Given the description of an element on the screen output the (x, y) to click on. 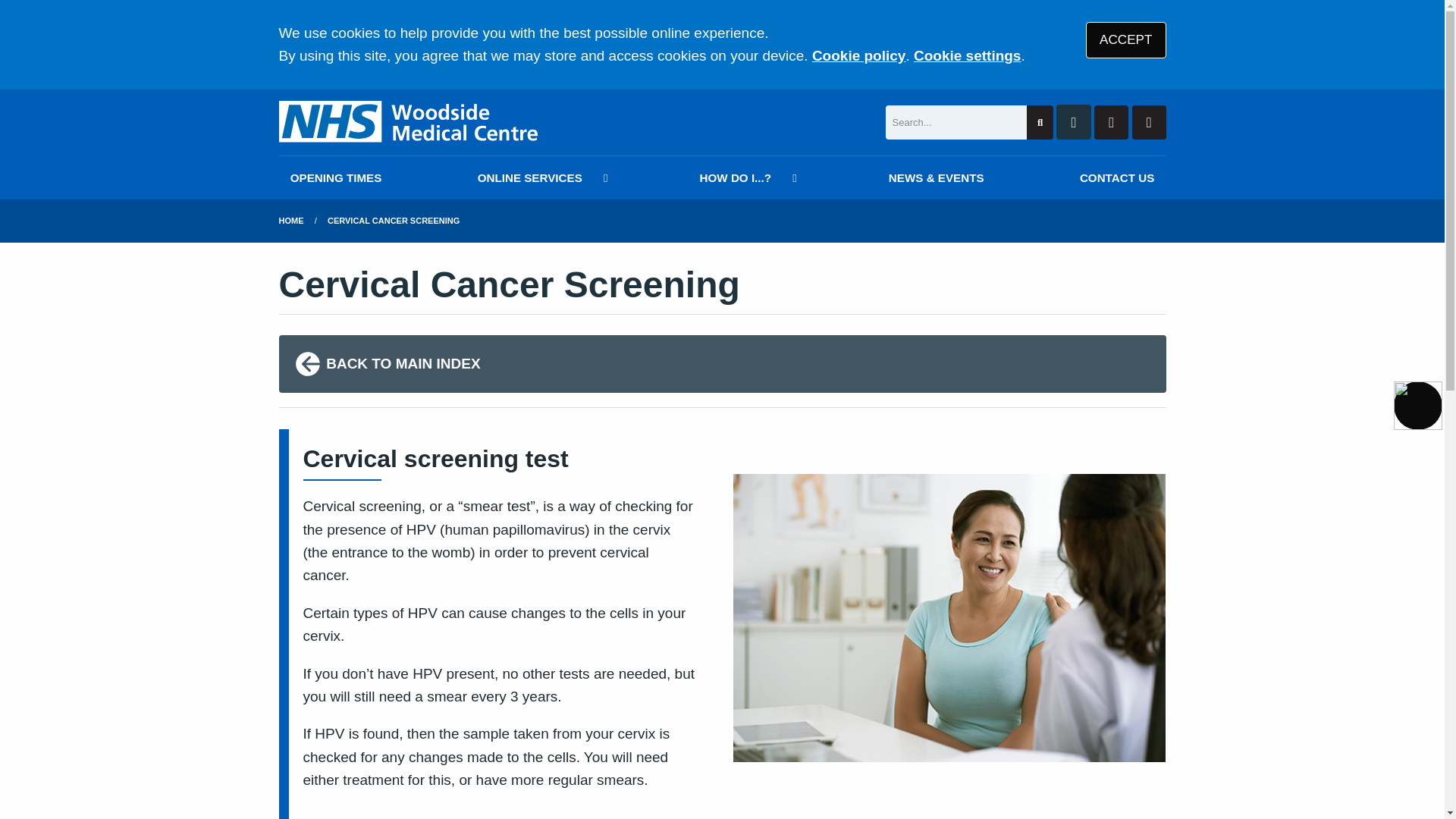
Cookie policy (858, 55)
Accessibility Menu (1417, 405)
HOW DO I...? (745, 177)
OPENING TIMES (336, 177)
ACCEPT (1126, 39)
HOME (291, 220)
ONLINE SERVICES (539, 177)
Cookie settings (967, 55)
CERVICAL CANCER SCREENING (393, 220)
BACK TO MAIN INDEX (722, 363)
CONTACT US (1117, 177)
